Given the description of an element on the screen output the (x, y) to click on. 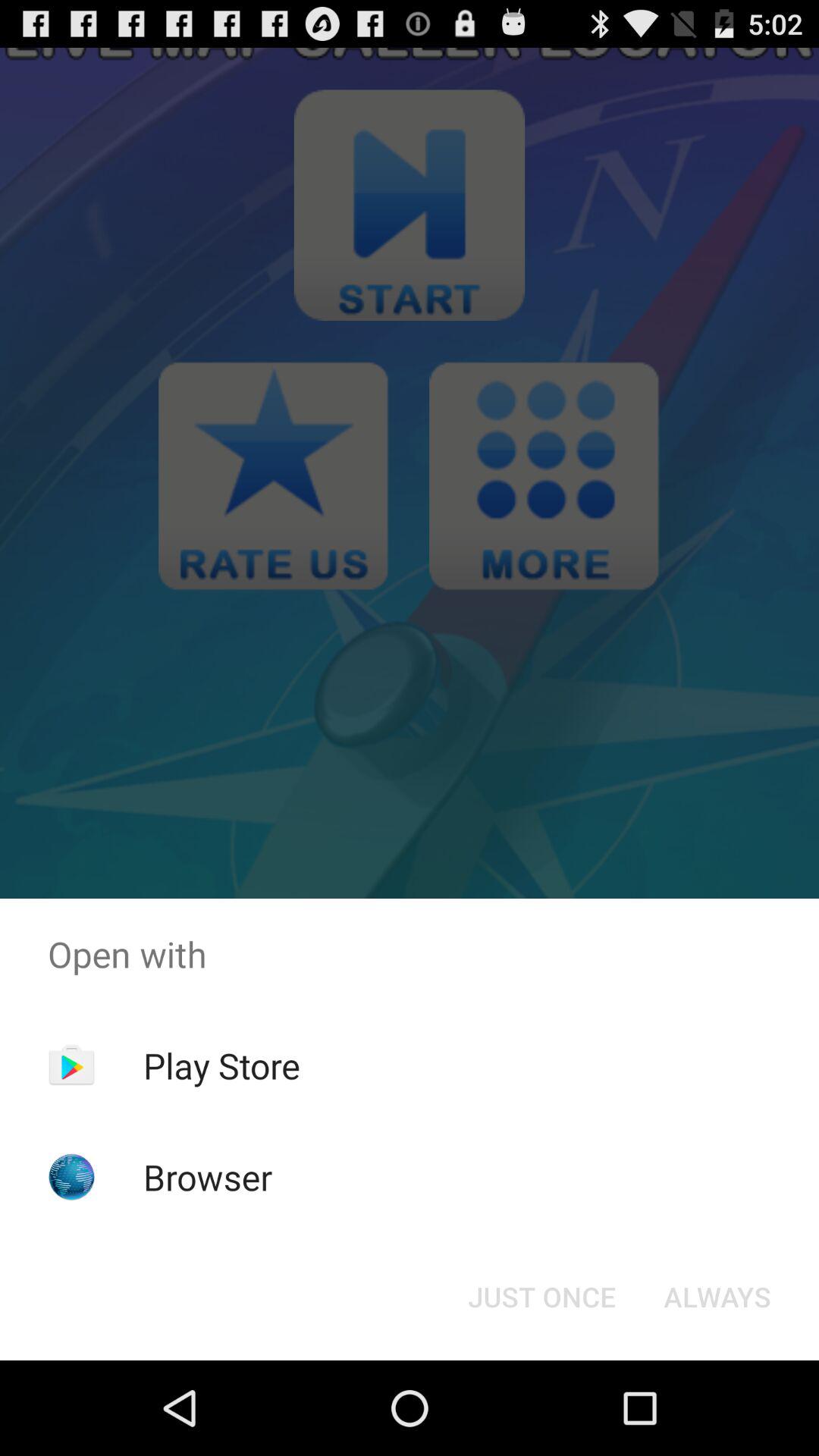
flip until the play store app (221, 1065)
